Given the description of an element on the screen output the (x, y) to click on. 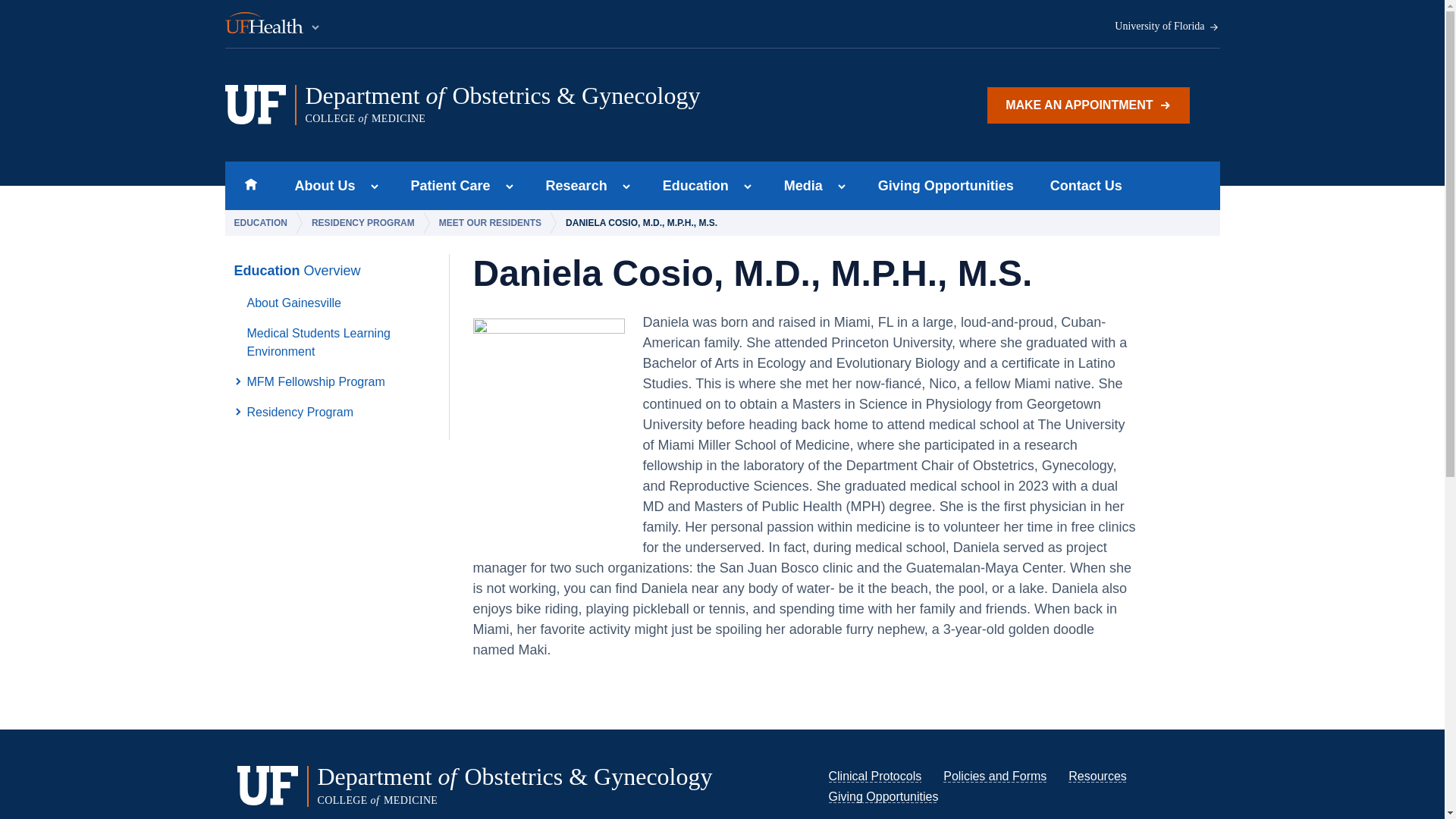
Policies and Forms (994, 775)
UF Health (272, 24)
MAKE AN APPOINTMENT (1088, 104)
About Us (320, 185)
Resources (1096, 775)
Giving Opportunities (882, 796)
University of Florida (1167, 26)
Clinical Protocols (874, 775)
